Given the description of an element on the screen output the (x, y) to click on. 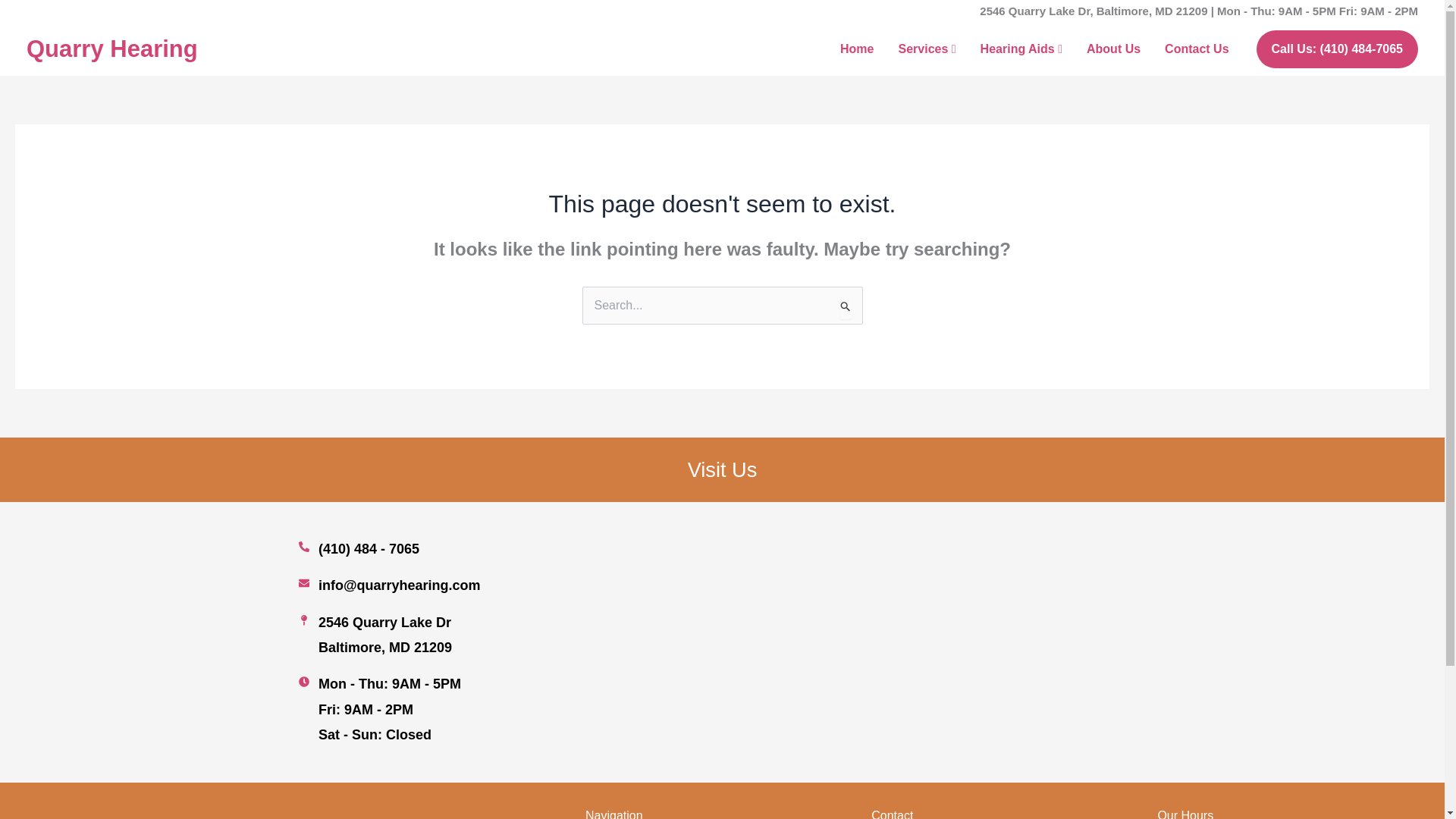
Services (926, 48)
Hearing Aids (1021, 48)
About Us (1113, 48)
Contact Us (1196, 48)
Quarry Hearing (112, 49)
Home (856, 48)
